Given the description of an element on the screen output the (x, y) to click on. 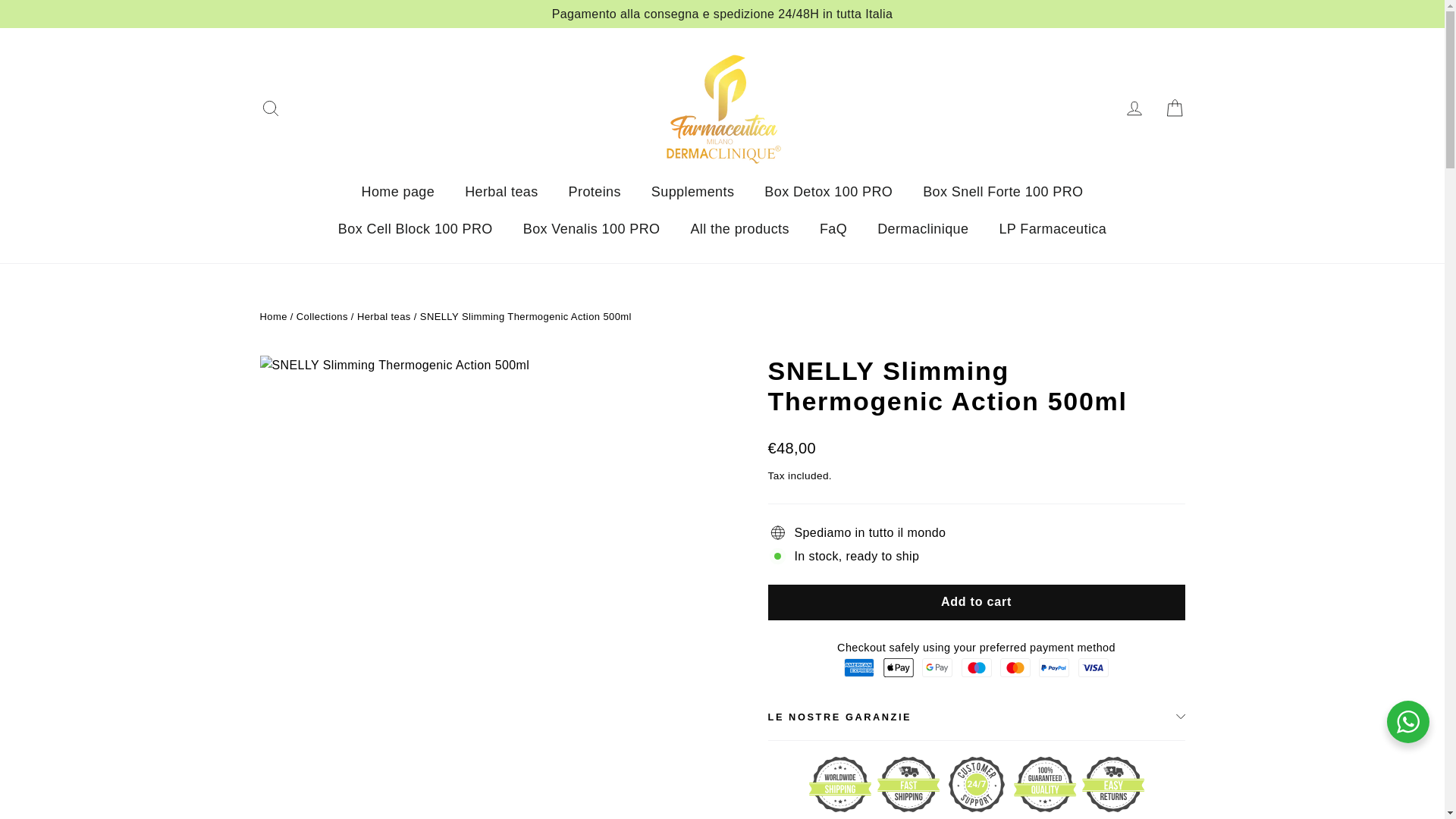
Box Detox 100 PRO (828, 191)
Box Cell Block 100 PRO (415, 229)
Cart (1173, 108)
Herbal teas (501, 191)
Back to the frontpage (272, 316)
All the products (739, 229)
Search (269, 108)
FaQ (833, 229)
LP Farmaceutica (1052, 229)
Dermaclinique (922, 229)
Home page (397, 191)
Box Snell Forte 100 PRO (1002, 191)
Log in (1134, 108)
Proteins (594, 191)
